Given the description of an element on the screen output the (x, y) to click on. 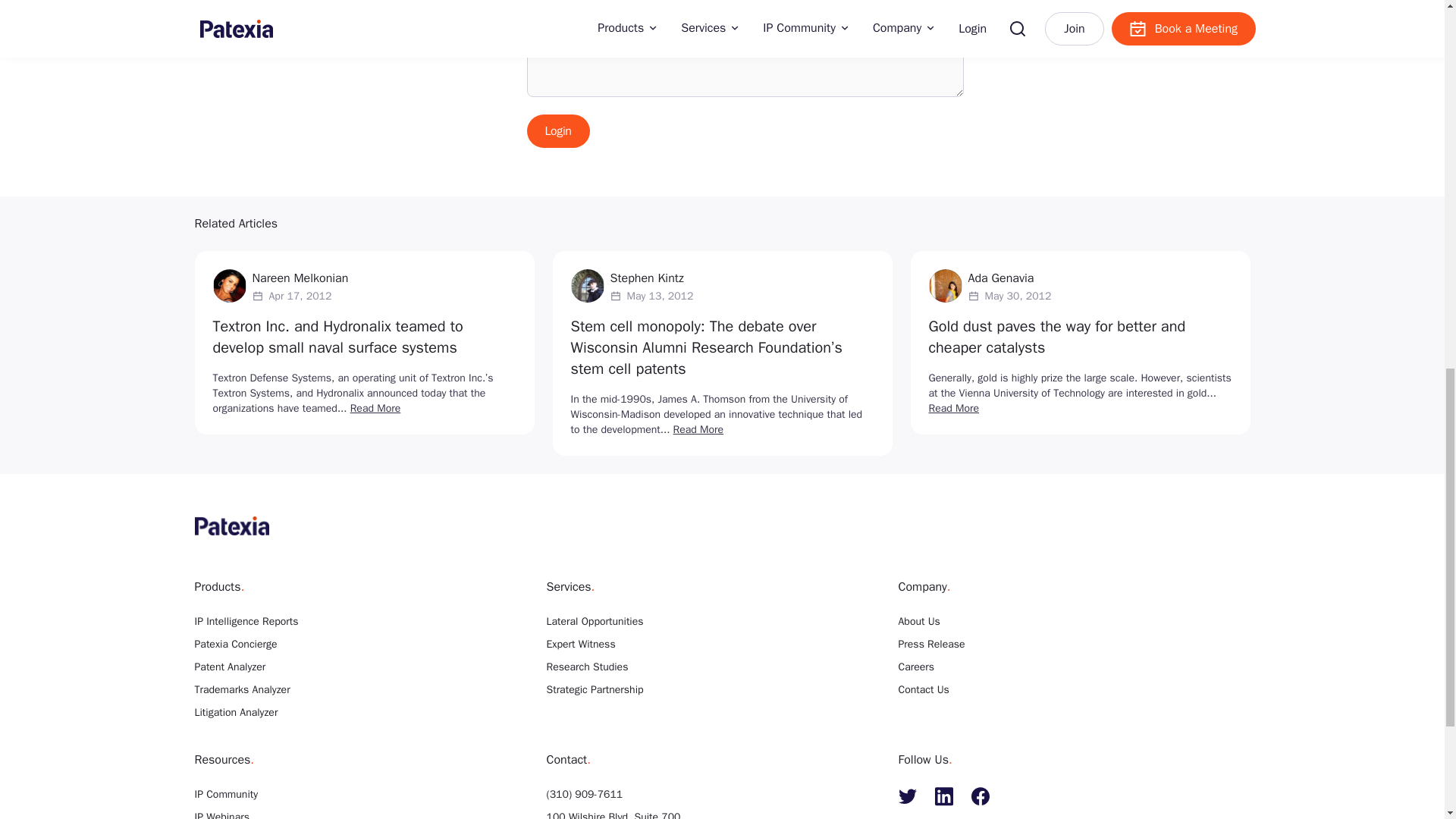
Stephen Kintz (646, 278)
Read More (375, 408)
Login (557, 131)
Nareen Melkonian (299, 278)
